Given the description of an element on the screen output the (x, y) to click on. 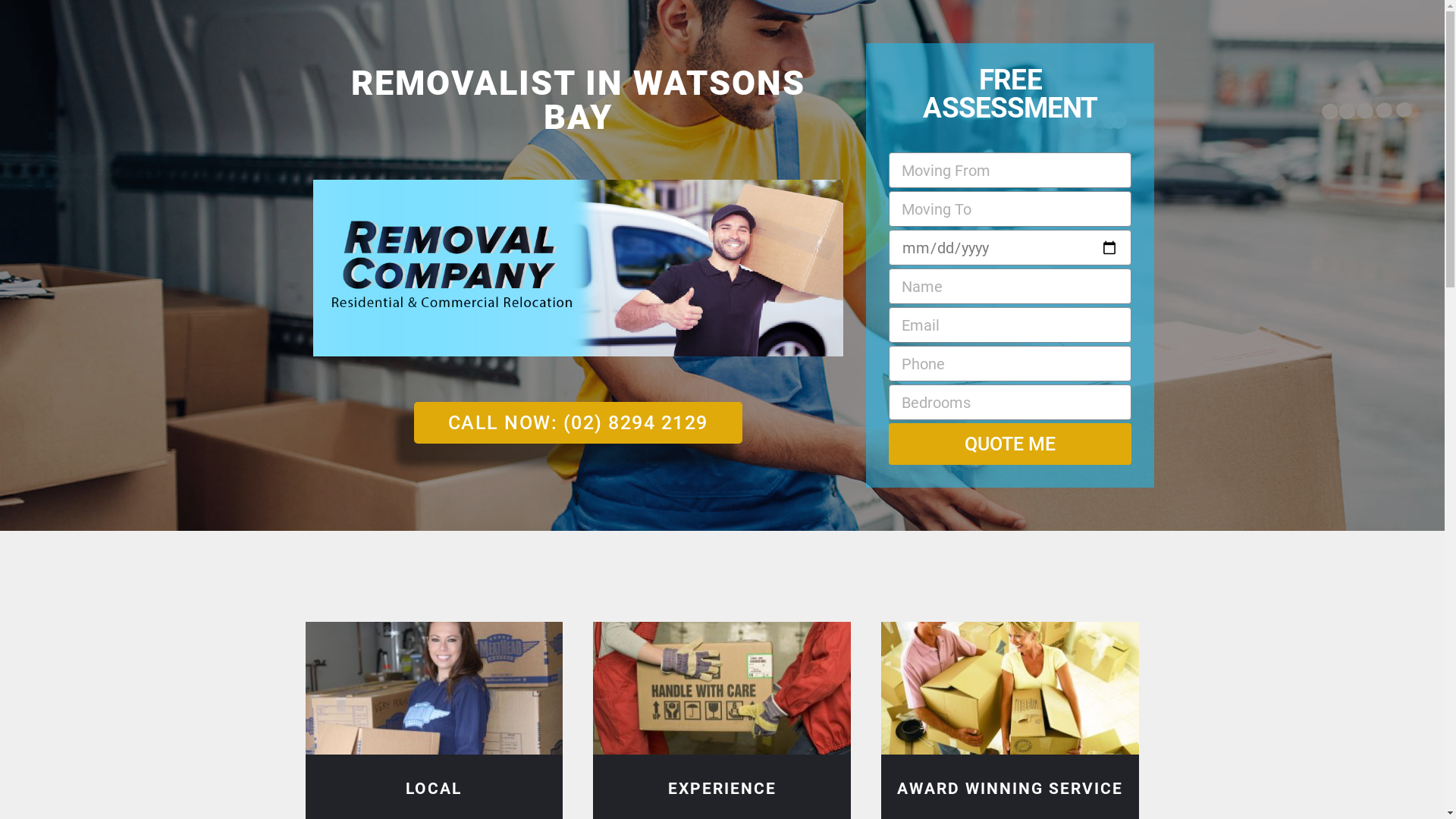
Local Removalists Watsons Bay Element type: hover (433, 687)
Experienced Removalists Watsons Bay Element type: hover (721, 687)
CALL NOW: (02) 8294 2129 Element type: text (578, 422)
QUOTE ME Element type: text (1009, 443)
Award Winning Watsons Bay Removal Services Element type: hover (1010, 687)
